Given the description of an element on the screen output the (x, y) to click on. 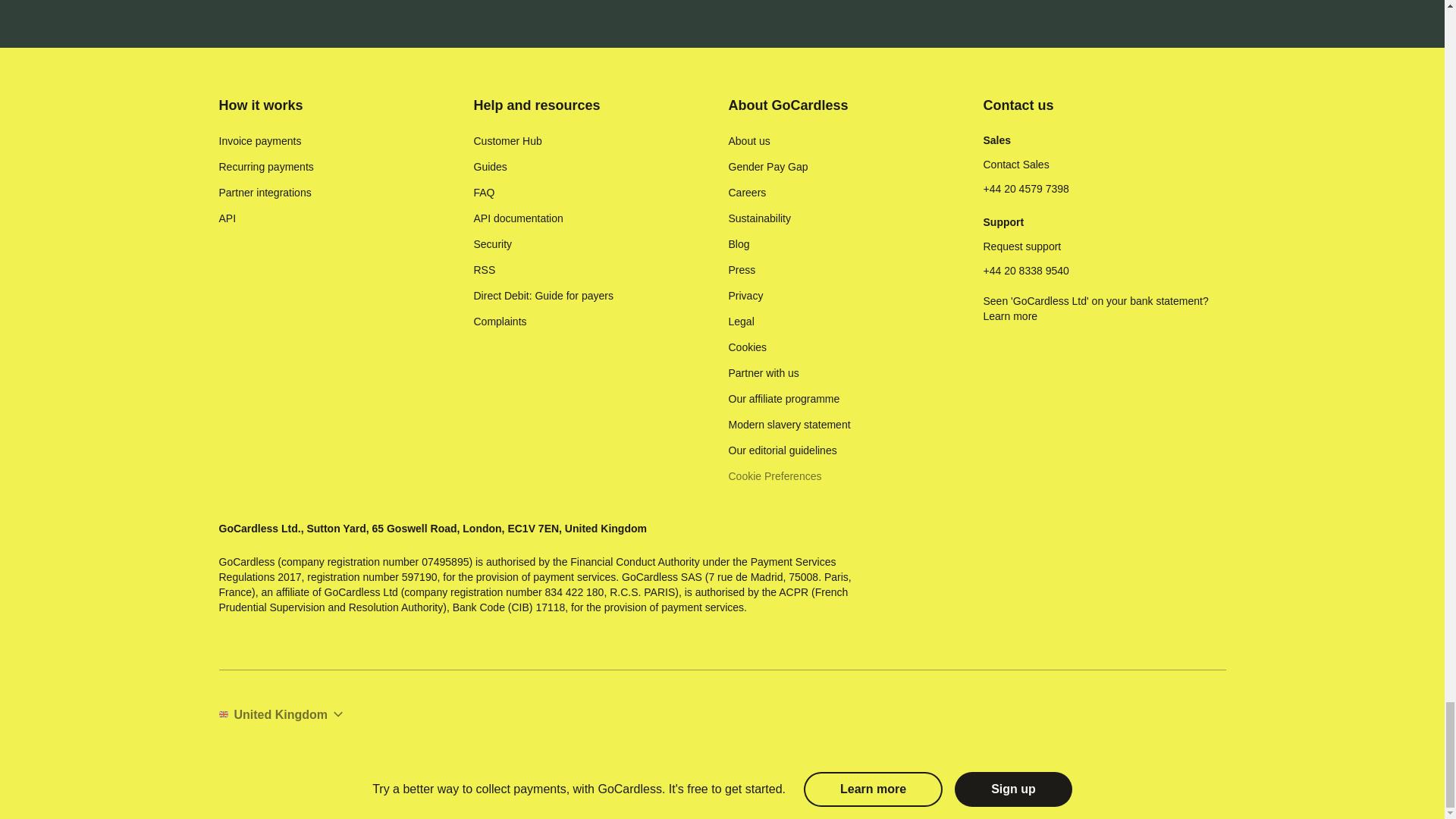
Blog (738, 243)
Guides (489, 166)
About us (749, 140)
Gender Pay Gap (768, 166)
Partner integrations (264, 192)
API (226, 218)
Press (741, 269)
Recurring payments (265, 166)
RSS (484, 269)
Privacy (745, 295)
